Given the description of an element on the screen output the (x, y) to click on. 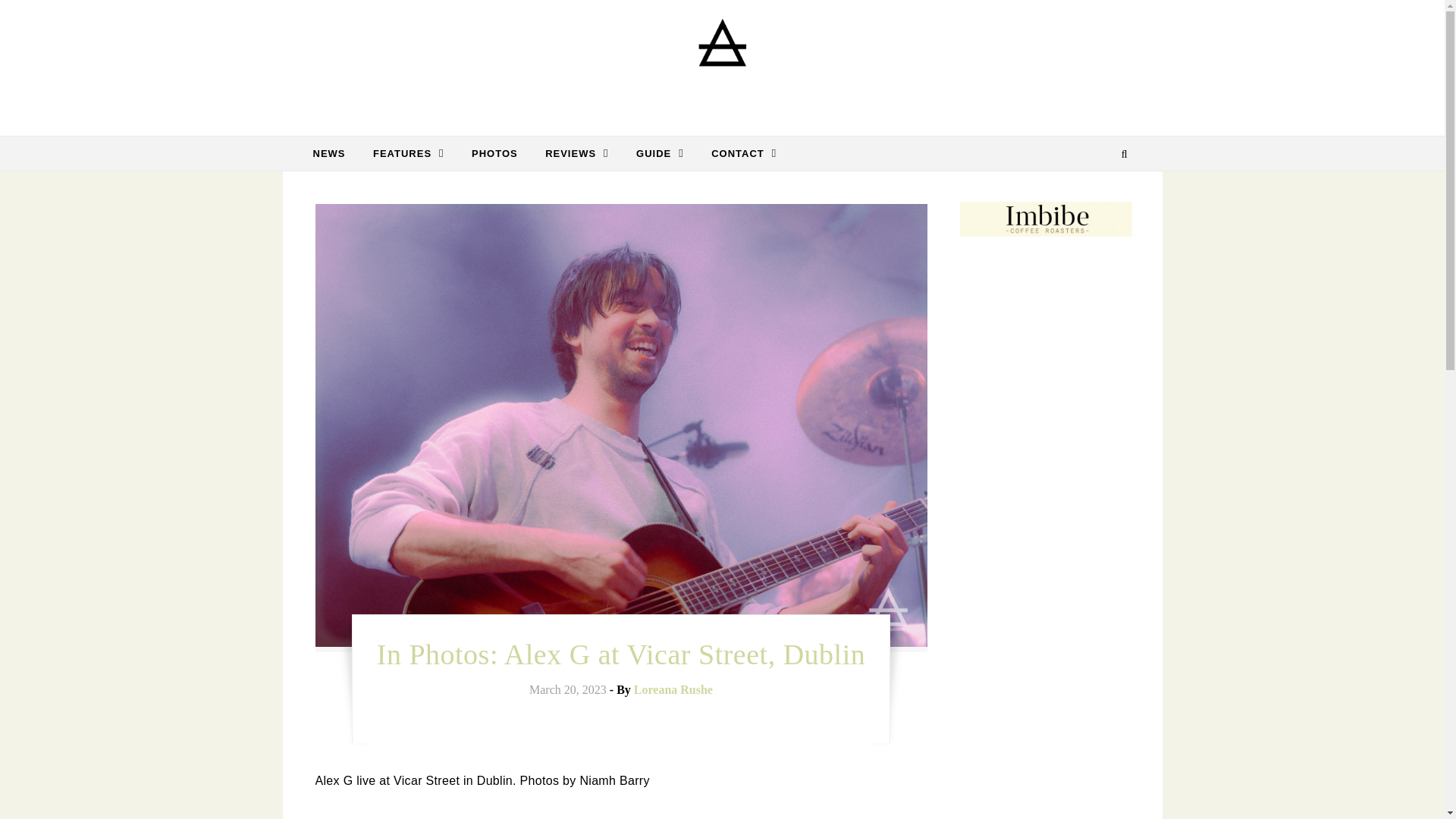
The Thin Air (722, 62)
GUIDE (659, 153)
Posts by Loreana Rushe (673, 689)
PHOTOS (494, 153)
NEWS (334, 153)
REVIEWS (576, 153)
CONTACT (737, 153)
FEATURES (409, 153)
